Given the description of an element on the screen output the (x, y) to click on. 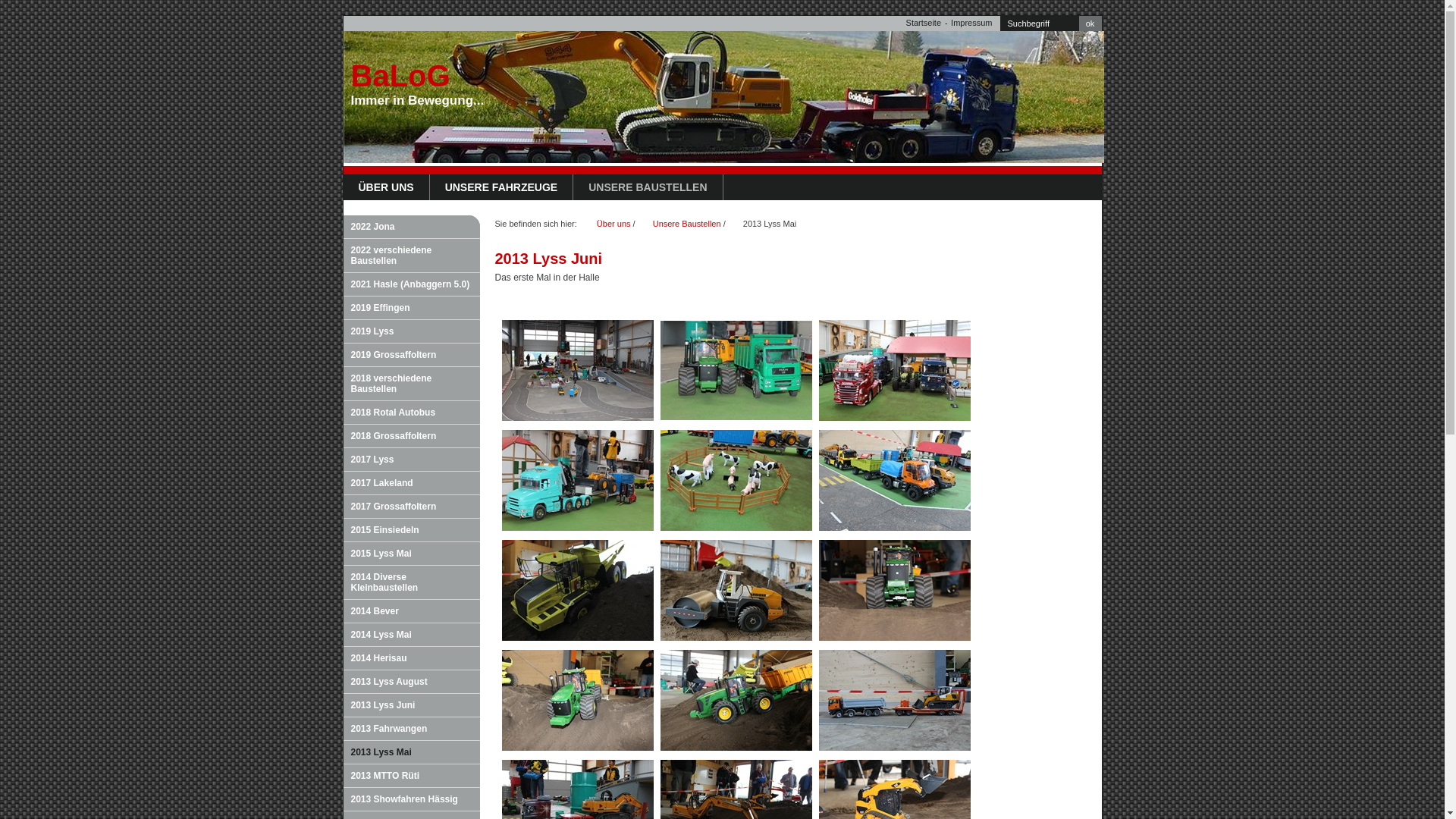
2014 Herisau Element type: text (410, 658)
2014 Lyss Mai Element type: text (410, 634)
2013 Lyss Juni Element type: text (410, 705)
2015 Einsiedeln Element type: text (410, 530)
ok Element type: text (1089, 23)
2014 Bever Element type: text (410, 611)
UNSERE FAHRZEUGE Element type: text (501, 187)
2019 Effingen Element type: text (410, 308)
2019 Grossaffoltern Element type: text (410, 355)
2018 verschiedene Baustellen Element type: text (410, 384)
2013 Lyss Mai Element type: text (410, 752)
2018 Rotal Autobus Element type: text (410, 412)
2019 Lyss Element type: text (410, 331)
2014 Diverse Kleinbaustellen Element type: text (410, 582)
Impressum Element type: text (970, 22)
2021 Hasle (Anbaggern 5.0) Element type: text (410, 284)
2015 Lyss Mai Element type: text (410, 553)
2013 Lyss August Element type: text (410, 681)
2022 verschiedene Baustellen Element type: text (410, 255)
Unsere Baustellen Element type: text (686, 223)
2017 Grossaffoltern Element type: text (410, 506)
UNSERE BAUSTELLEN Element type: text (647, 187)
2013 Lyss Mai Element type: text (770, 223)
2018 Grossaffoltern Element type: text (410, 436)
Startseite Element type: text (923, 22)
2017 Lakeland Element type: text (410, 483)
2013 Fahrwangen Element type: text (410, 728)
2017 Lyss Element type: text (410, 459)
2022 Jona Element type: text (410, 226)
